Given the description of an element on the screen output the (x, y) to click on. 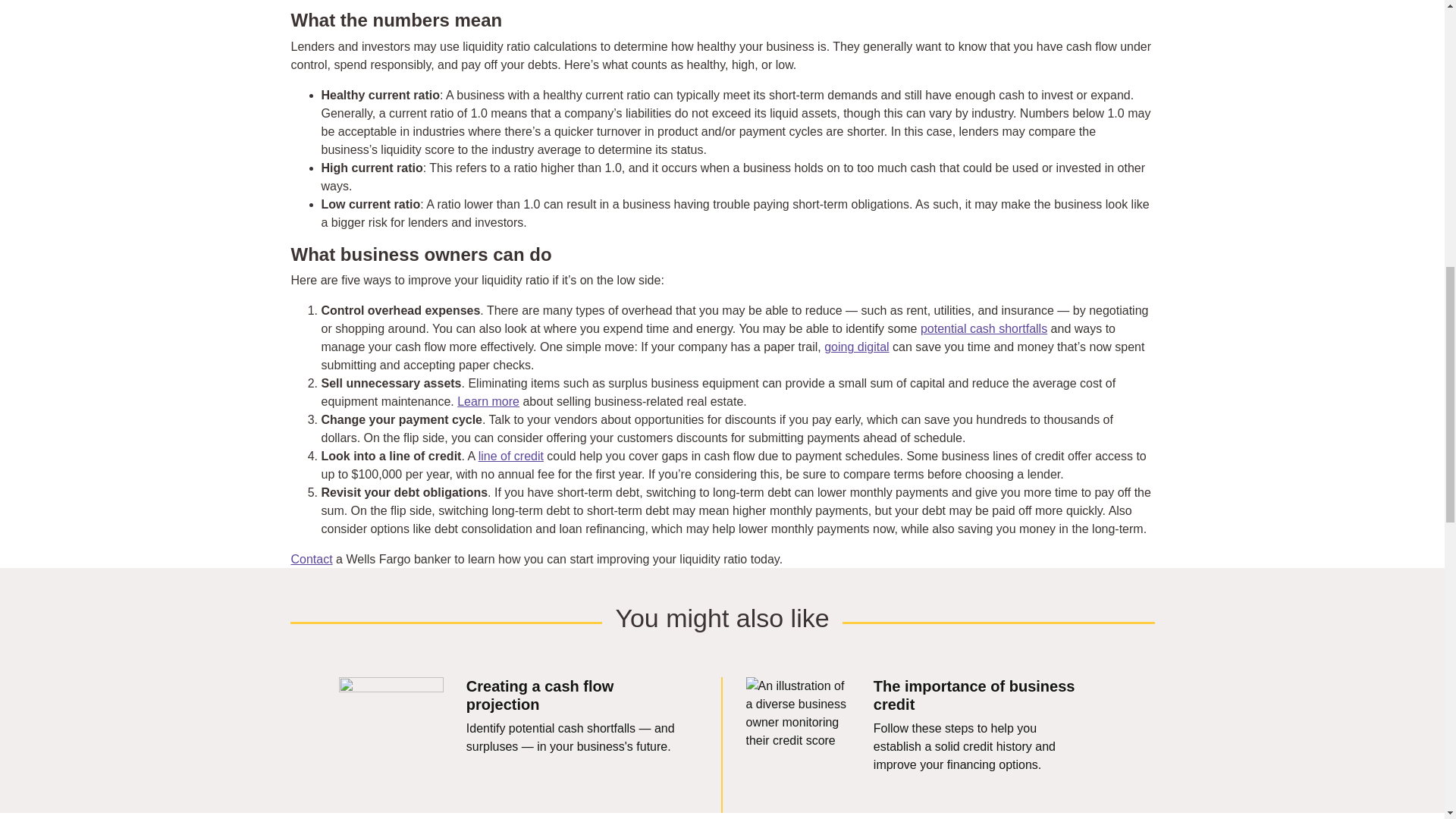
Learn more (488, 400)
line of credit (511, 455)
potential cash shortfalls (983, 328)
going digital (856, 346)
Contact (312, 558)
